Given the description of an element on the screen output the (x, y) to click on. 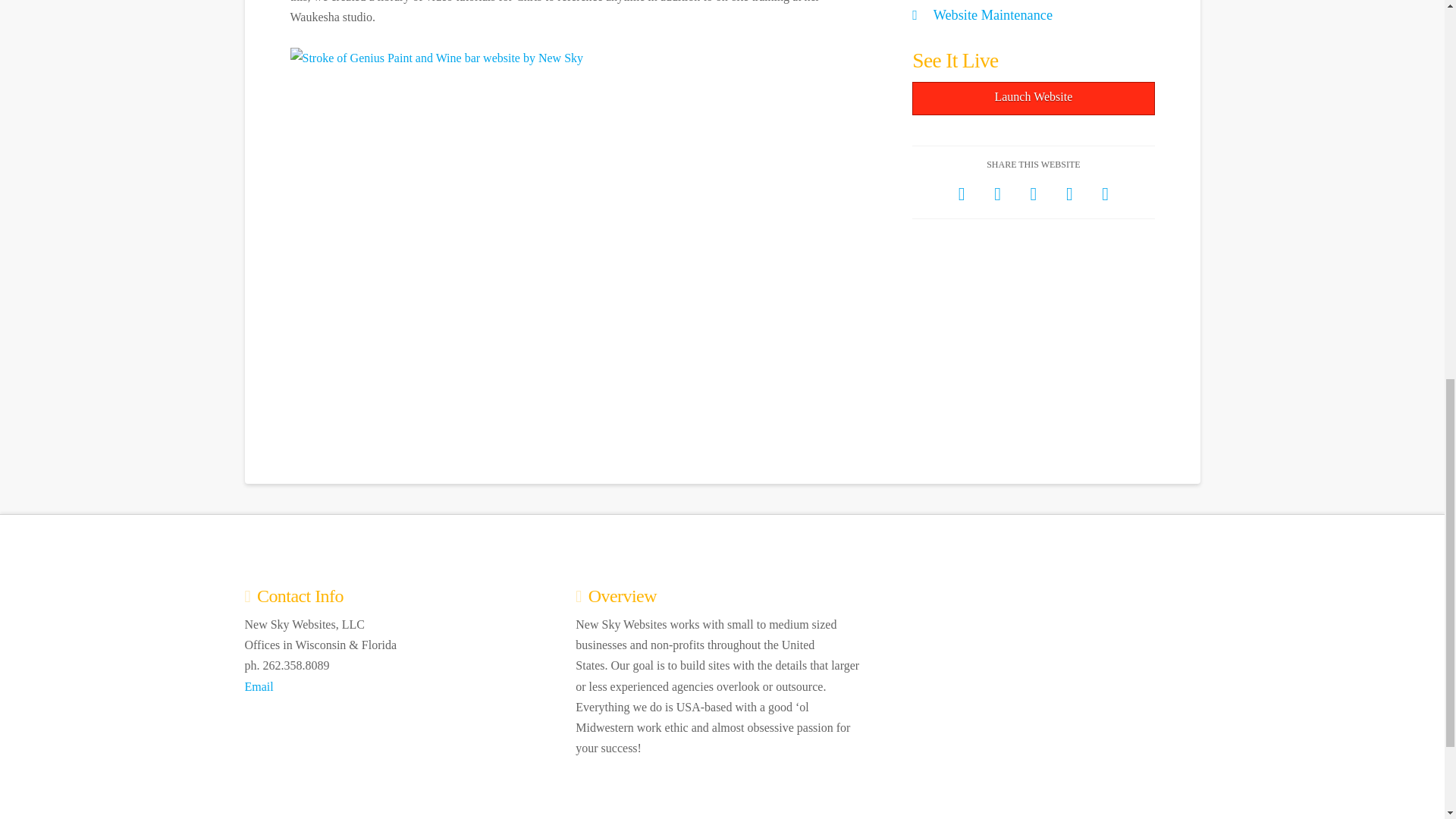
Share on LinkedIn (1032, 193)
Share on Pinterest (1069, 193)
Share via Email (1104, 193)
Launch Website (1033, 98)
Share on Facebook (961, 193)
